Given the description of an element on the screen output the (x, y) to click on. 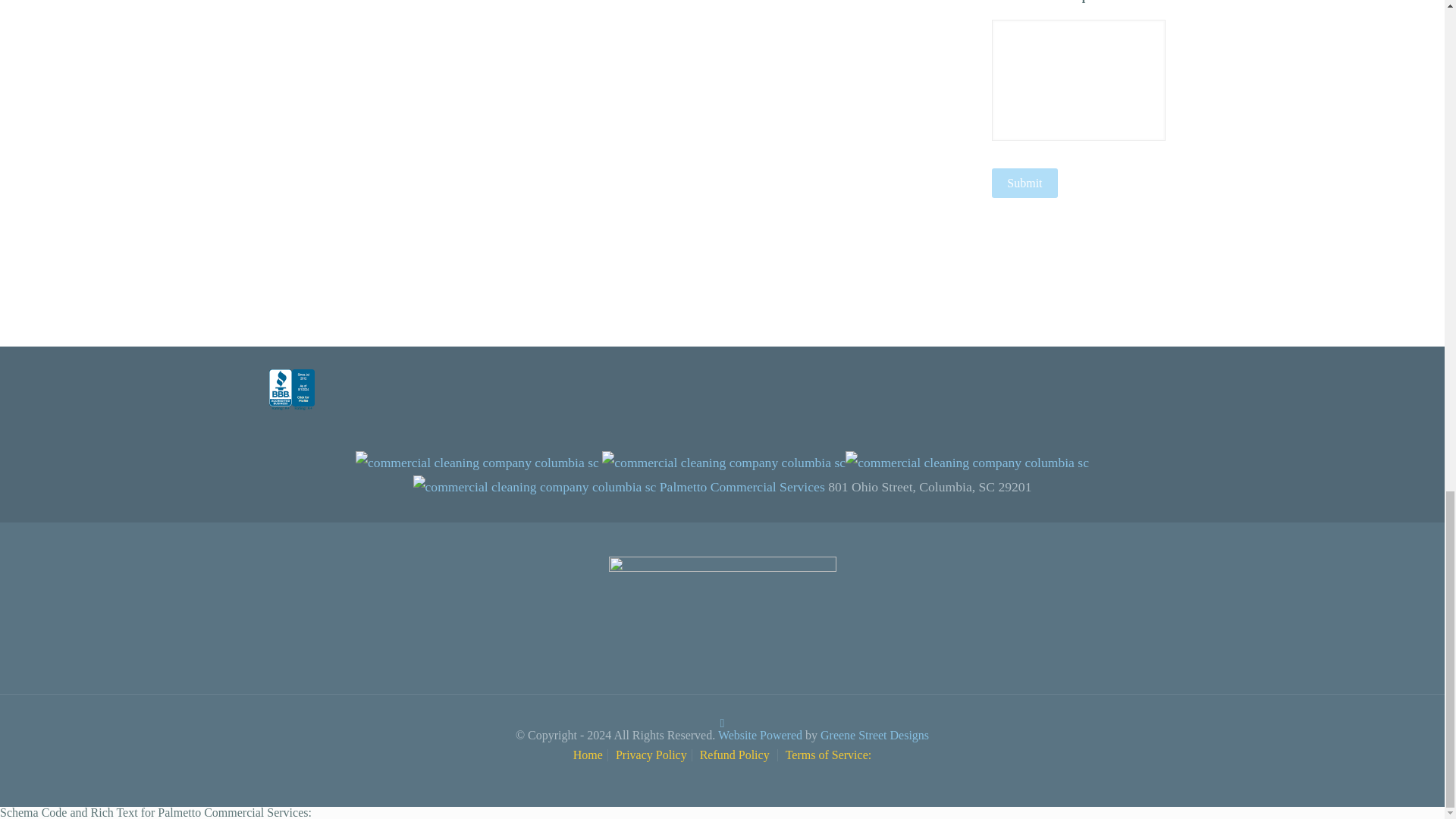
Submit (1024, 183)
Submit (1024, 183)
Privacy Policy (651, 754)
Refund Policy  (736, 754)
Bin Store (761, 735)
Website Powered (761, 735)
Greene Street Designs (874, 735)
seo company (874, 735)
Palmetto Commercial Services (742, 486)
Terms of Service: (829, 754)
